Given the description of an element on the screen output the (x, y) to click on. 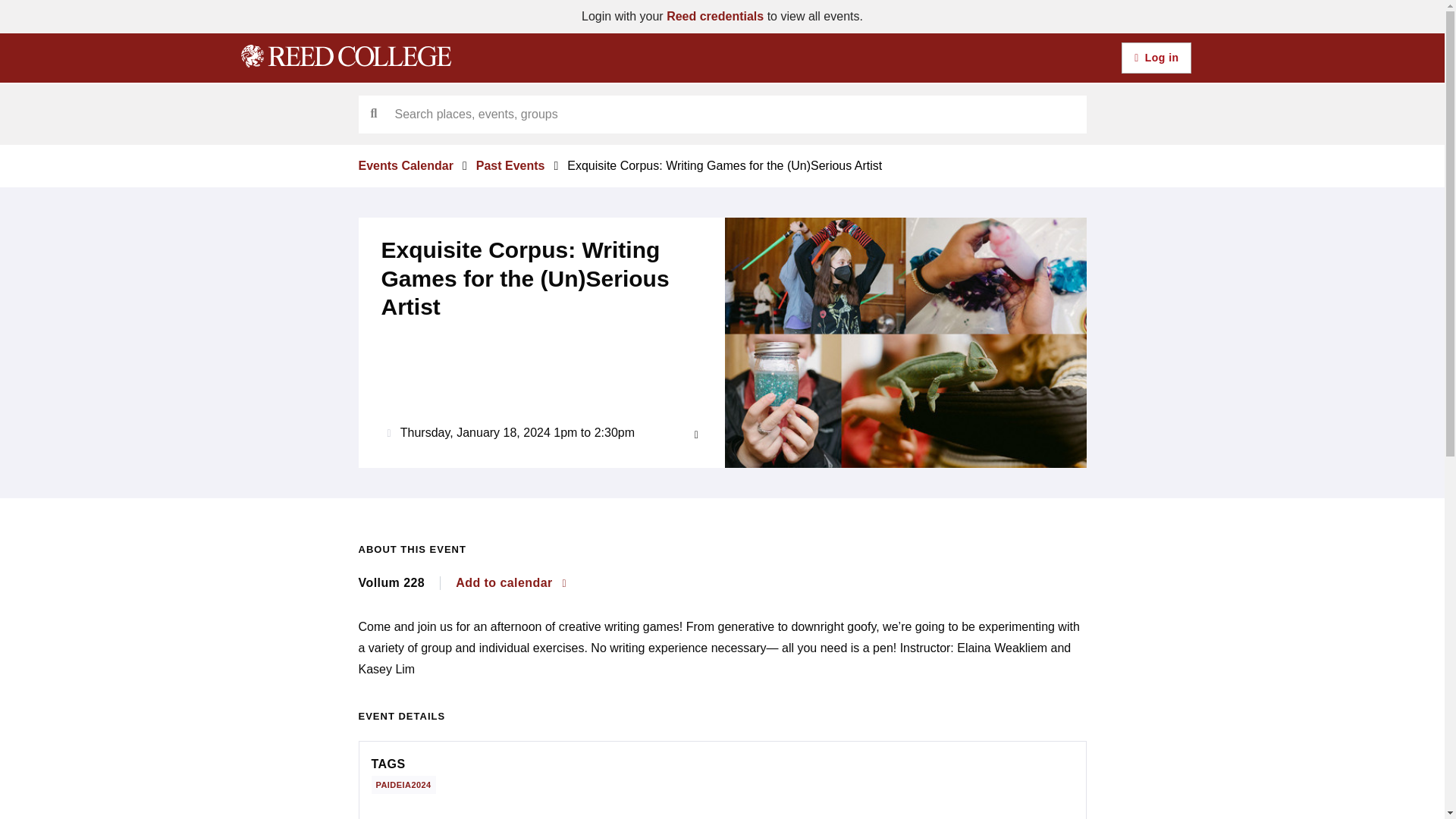
Reed credentials (714, 15)
Past Events (510, 164)
Add to calendar (510, 583)
Log in (1156, 58)
Events Calendar (405, 164)
PAIDEIA2024 (406, 783)
